Given the description of an element on the screen output the (x, y) to click on. 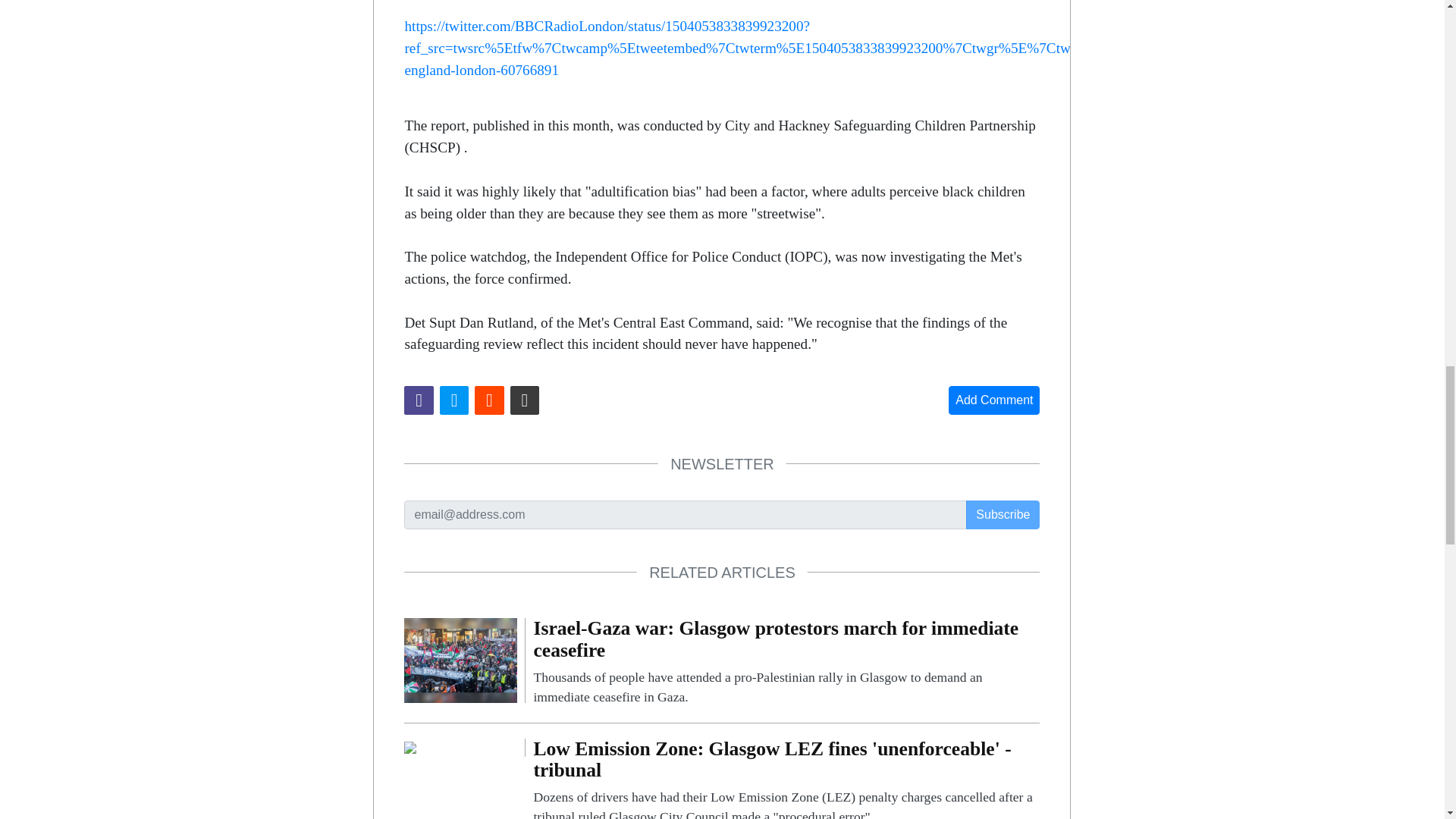
Subscribe (1002, 514)
Add Comment (994, 399)
